Given the description of an element on the screen output the (x, y) to click on. 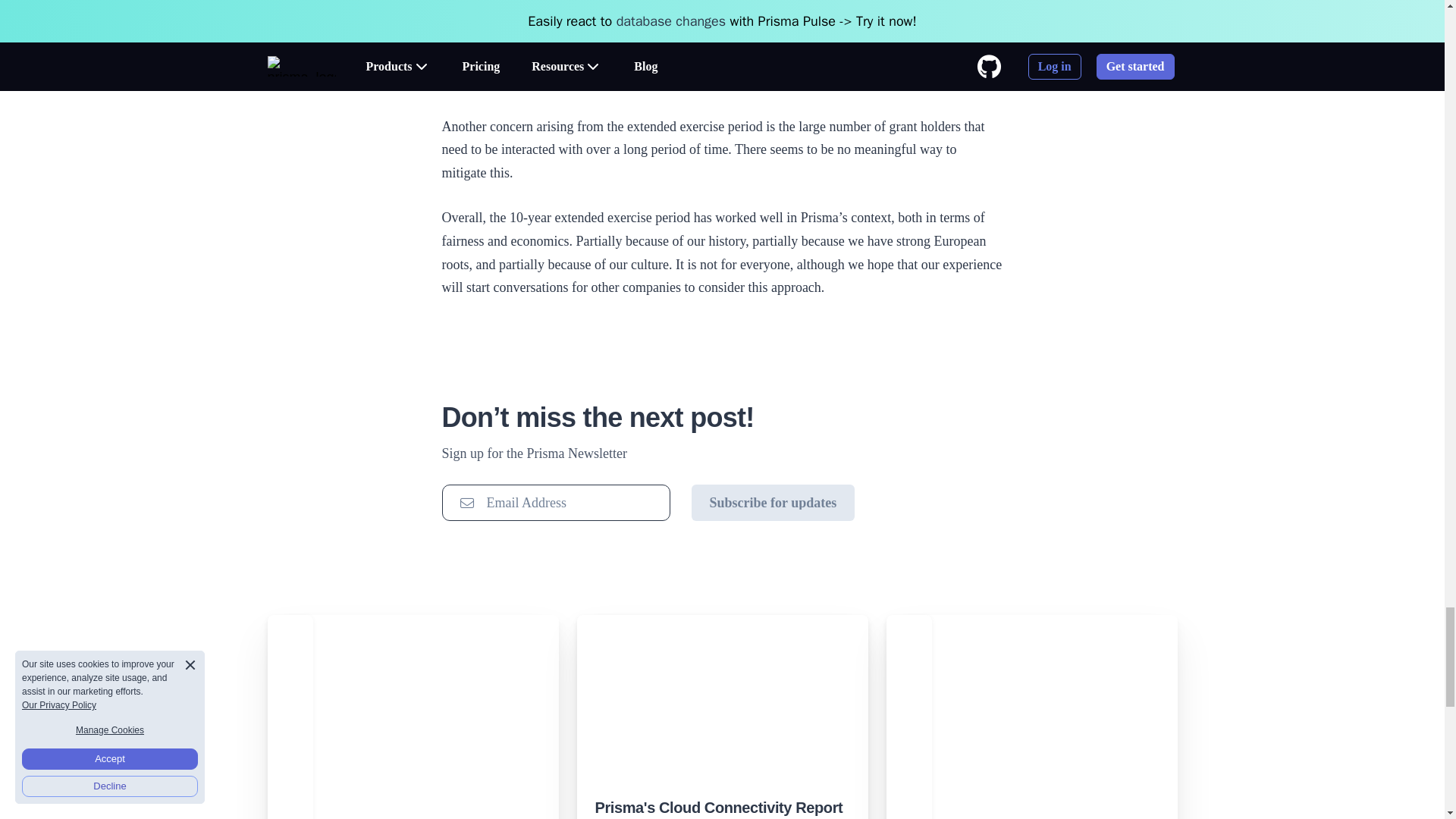
Subscribe for updates (773, 502)
Subscribe for updates (773, 502)
